Given the description of an element on the screen output the (x, y) to click on. 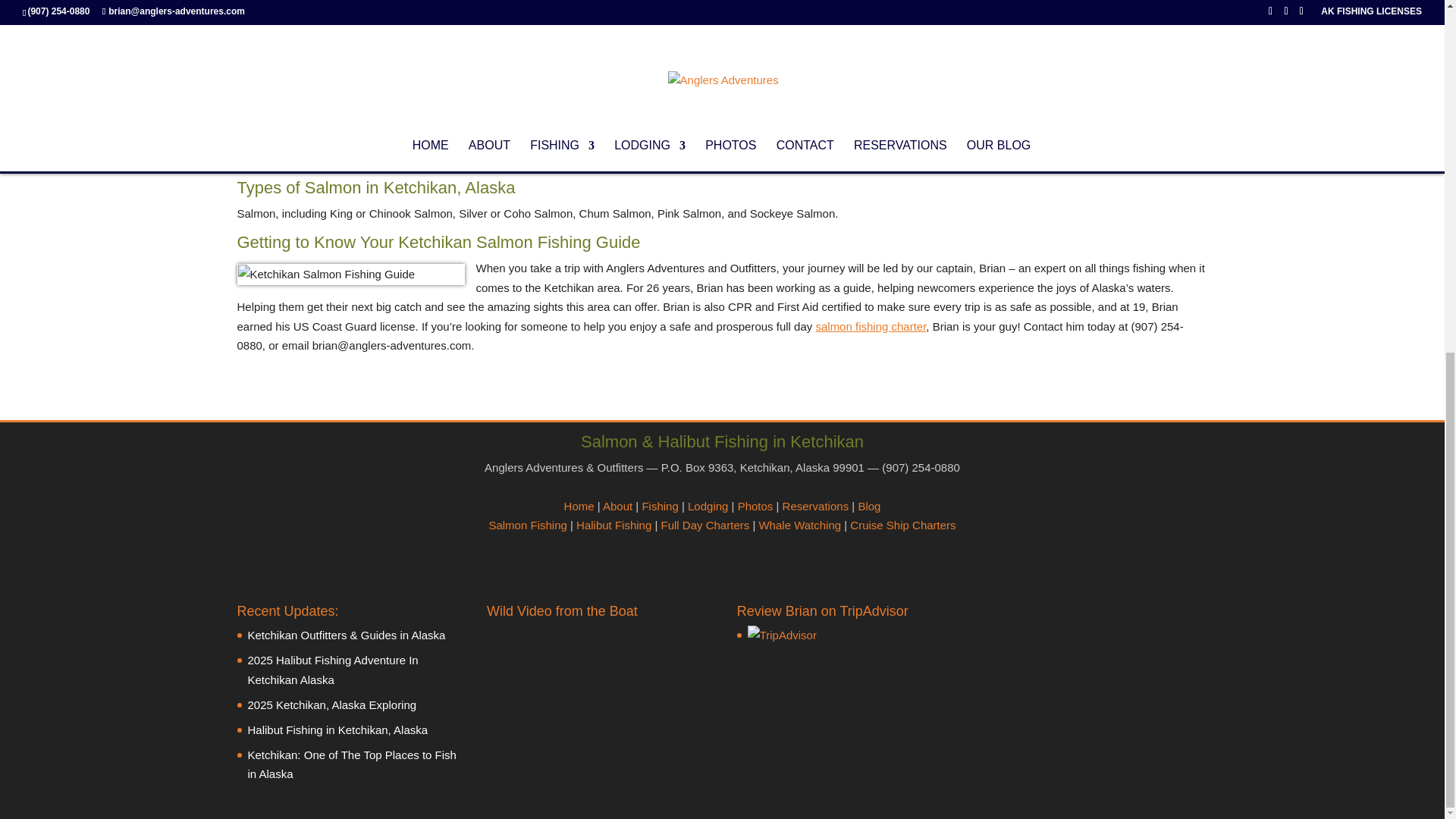
salmon fishing charter (870, 326)
Salmon Fishing (526, 524)
Whale Watching (799, 524)
Lodging (707, 504)
Full Day Charters (705, 524)
2025 Halibut Fishing Adventure In Ketchikan Alaska (332, 669)
Cruise Ship Charters (902, 524)
Reservations (815, 504)
Fishing (660, 504)
Home (579, 504)
Photos (755, 504)
About (616, 504)
Blog (868, 504)
Halibut Fishing (613, 524)
